Given the description of an element on the screen output the (x, y) to click on. 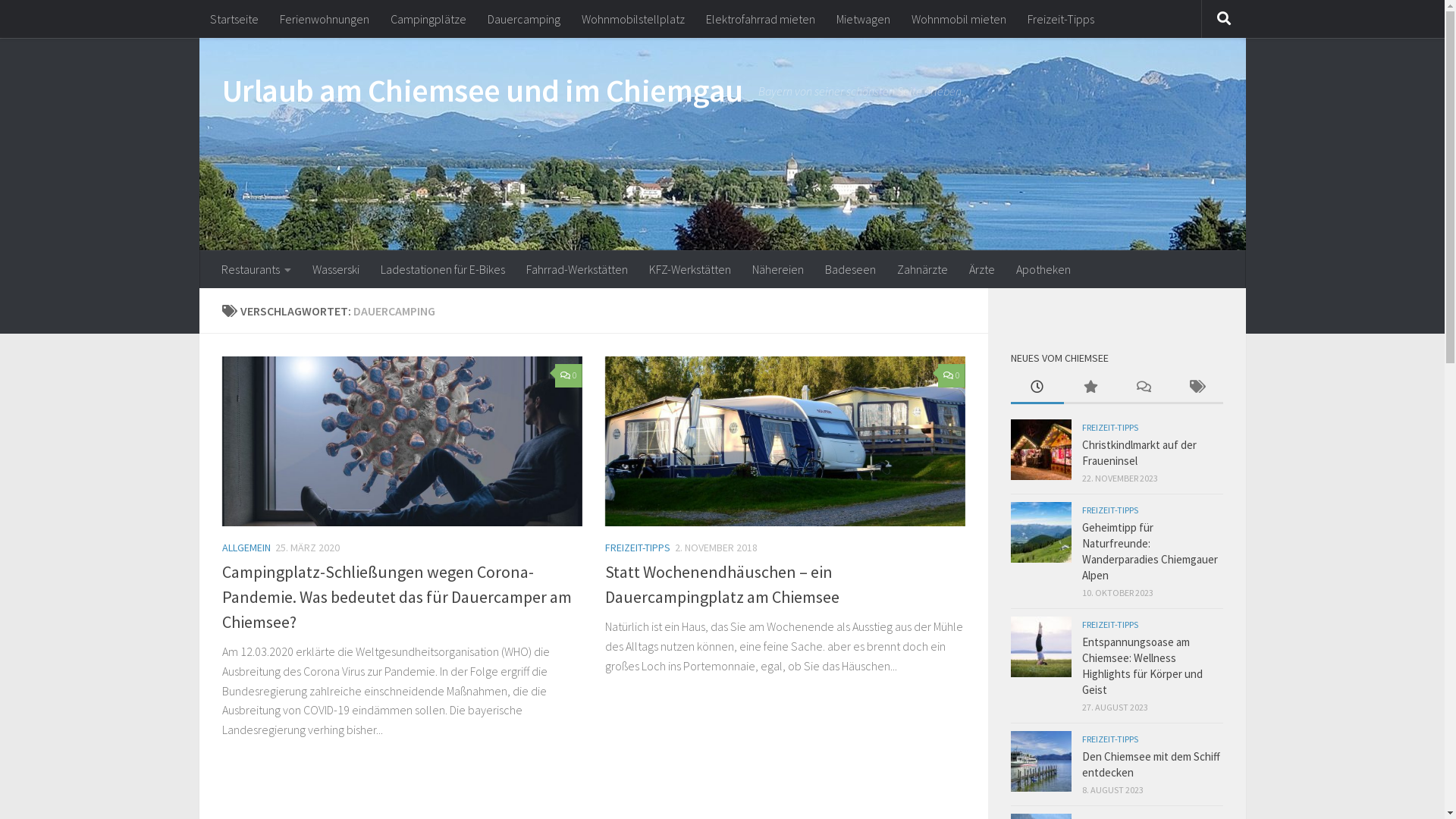
Apotheken Element type: text (1043, 269)
Startseite Element type: text (233, 18)
Elektrofahrrad mieten Element type: text (759, 18)
Restaurants Element type: text (255, 269)
Badeseen Element type: text (850, 269)
Wasserski Element type: text (335, 269)
Dauercamping Element type: text (523, 18)
FREIZEIT-TIPPS Element type: text (1109, 738)
0 Element type: text (568, 375)
FREIZEIT-TIPPS Element type: text (637, 547)
Den Chiemsee mit dem Schiff entdecken Element type: text (1150, 764)
Christkindlmarkt auf der Fraueninsel Element type: text (1138, 452)
0 Element type: text (951, 375)
ALLGEMEIN Element type: text (245, 547)
FREIZEIT-TIPPS Element type: text (1109, 624)
FREIZEIT-TIPPS Element type: text (1109, 427)
Ferienwohnungen Element type: text (323, 18)
Urlaub am Chiemsee und im Chiemgau Element type: text (481, 90)
Wohnmobil mieten Element type: text (958, 18)
Zum Inhalt springen Element type: text (73, 21)
FREIZEIT-TIPPS Element type: text (1109, 509)
Mietwagen Element type: text (862, 18)
Freizeit-Tipps Element type: text (1060, 18)
Wohnmobilstellplatz Element type: text (632, 18)
